Given the description of an element on the screen output the (x, y) to click on. 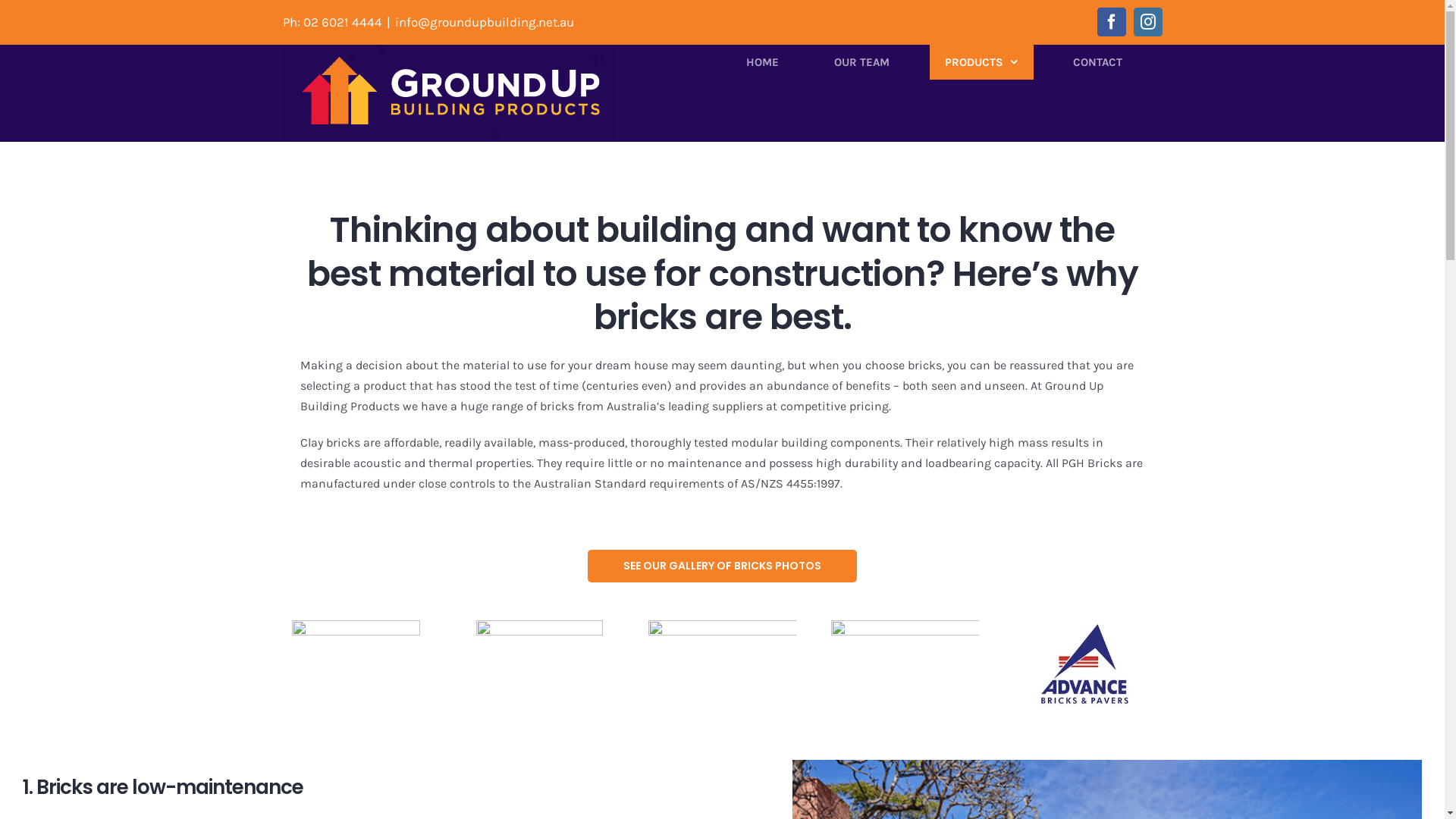
Facebook Element type: text (1110, 21)
OUR TEAM Element type: text (862, 61)
CONTACT Element type: text (1097, 61)
SEE OUR GALLERY OF BRICKS PHOTOS Element type: text (722, 565)
Instagram Element type: text (1146, 21)
HOME Element type: text (762, 61)
PRODUCTS Element type: text (981, 61)
info@groundupbuilding.net.au Element type: text (483, 21)
